Given the description of an element on the screen output the (x, y) to click on. 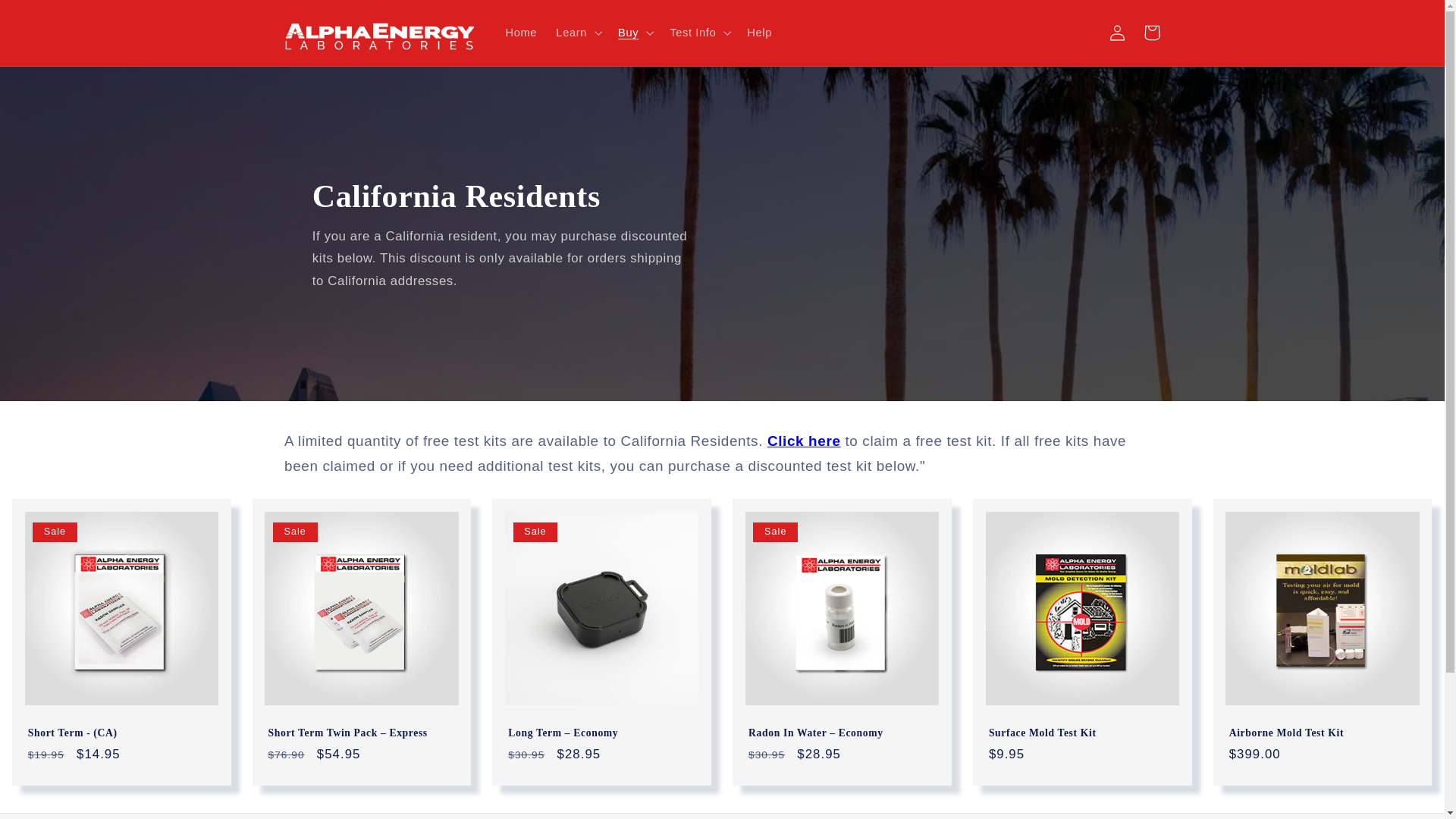
Home (521, 32)
Skip to content (48, 18)
